Given the description of an element on the screen output the (x, y) to click on. 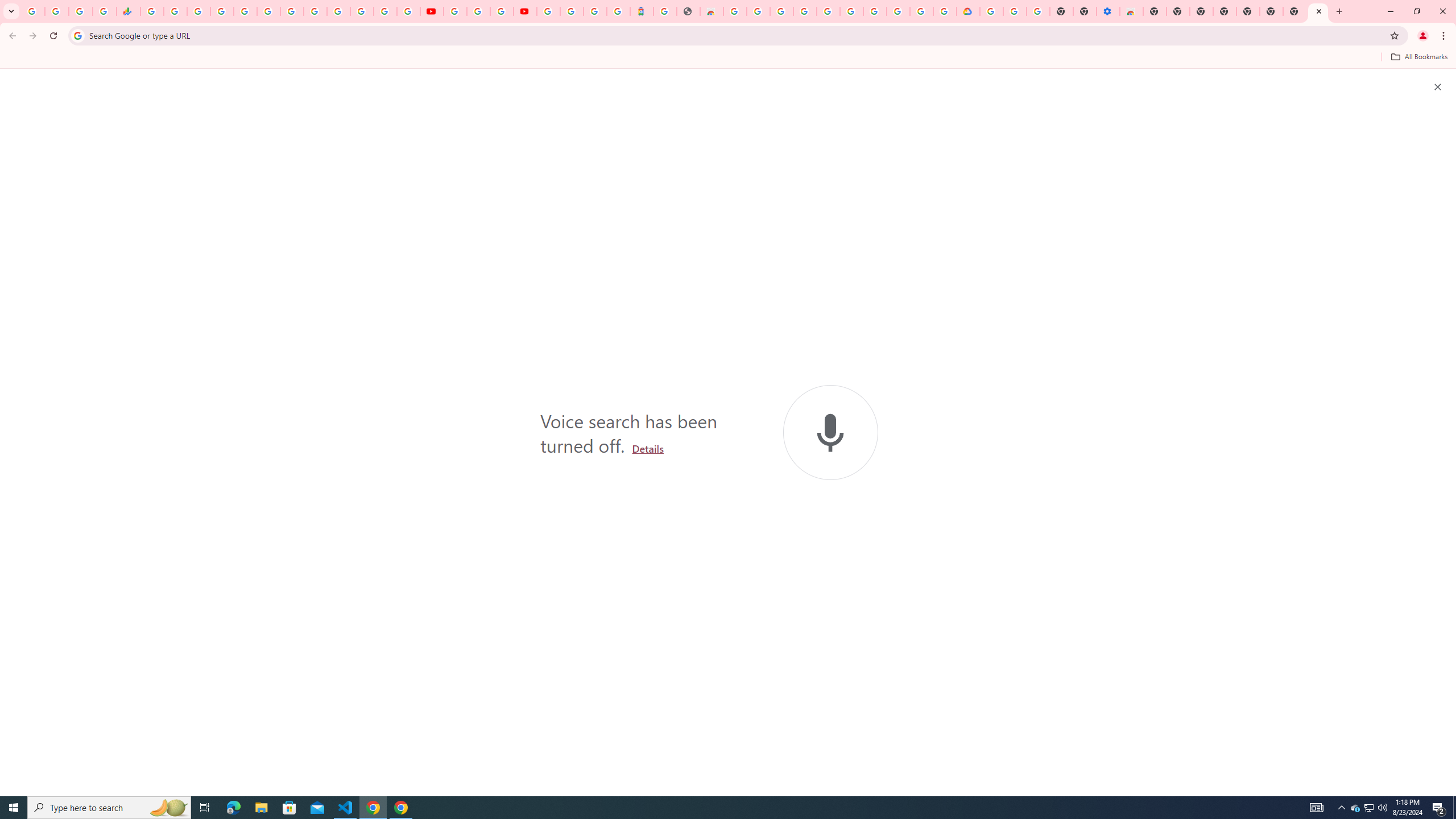
Sign in - Google Accounts (827, 11)
New Tab (1155, 11)
Turn cookies on or off - Computer - Google Account Help (1038, 11)
Privacy Checkup (408, 11)
Sign in - Google Accounts (547, 11)
Browse the Google Chrome Community - Google Chrome Community (945, 11)
Learn more about using a microphone (647, 448)
Content Creator Programs & Opportunities - YouTube Creators (524, 11)
